Given the description of an element on the screen output the (x, y) to click on. 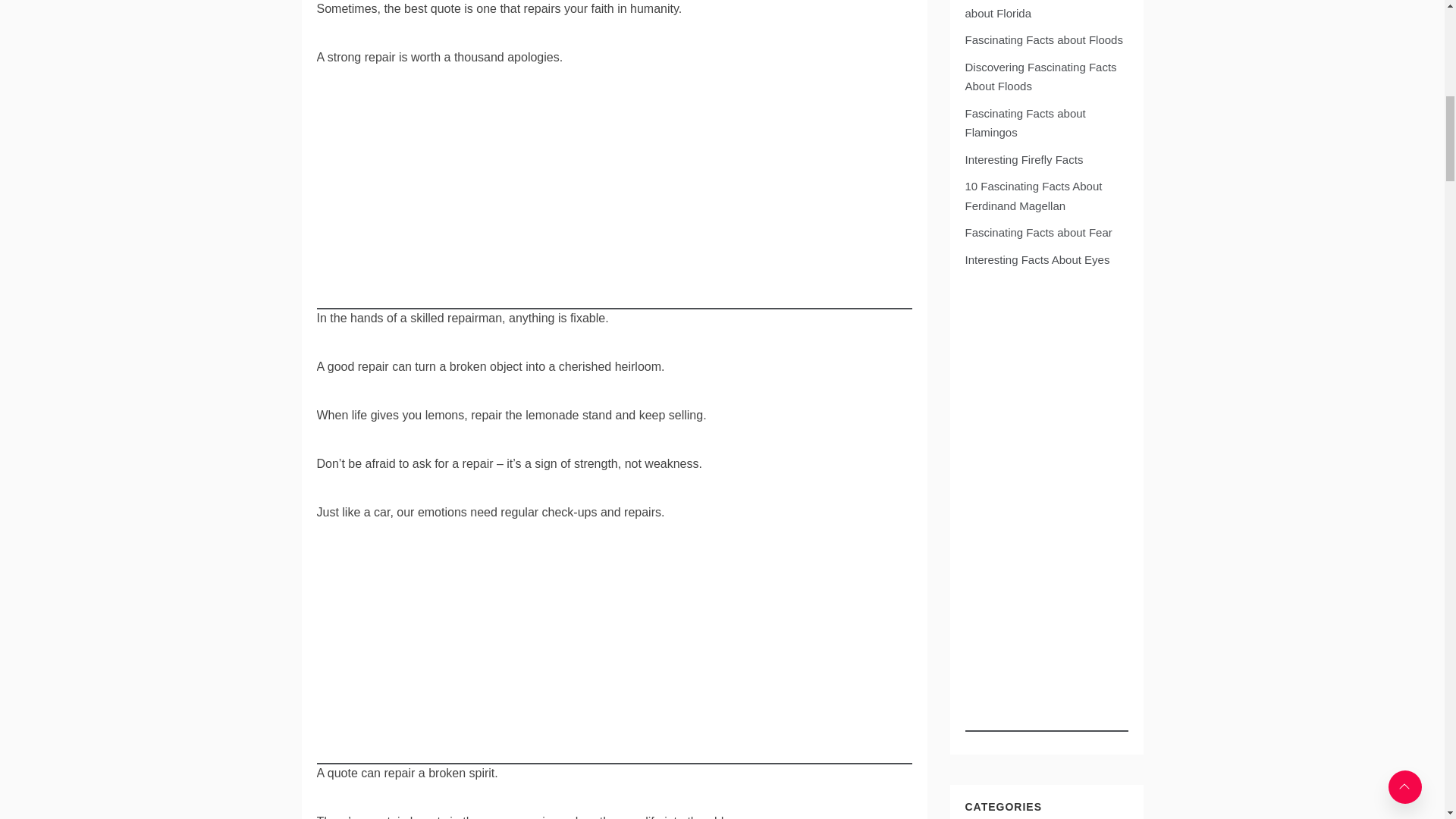
Fascinating Facts about Flamingos (1023, 123)
10 Fascinating Facts About Ferdinand Magellan (1032, 195)
Discover Fascinating Facts about Florida (1031, 9)
Fascinating Facts about Floods (1042, 39)
Discovering Fascinating Facts About Floods (1039, 76)
Advertisement (614, 203)
Advertisement (614, 658)
Interesting Firefly Facts (1023, 159)
Interesting Facts About Eyes (1036, 259)
Fascinating Facts about Fear (1037, 232)
